Given the description of an element on the screen output the (x, y) to click on. 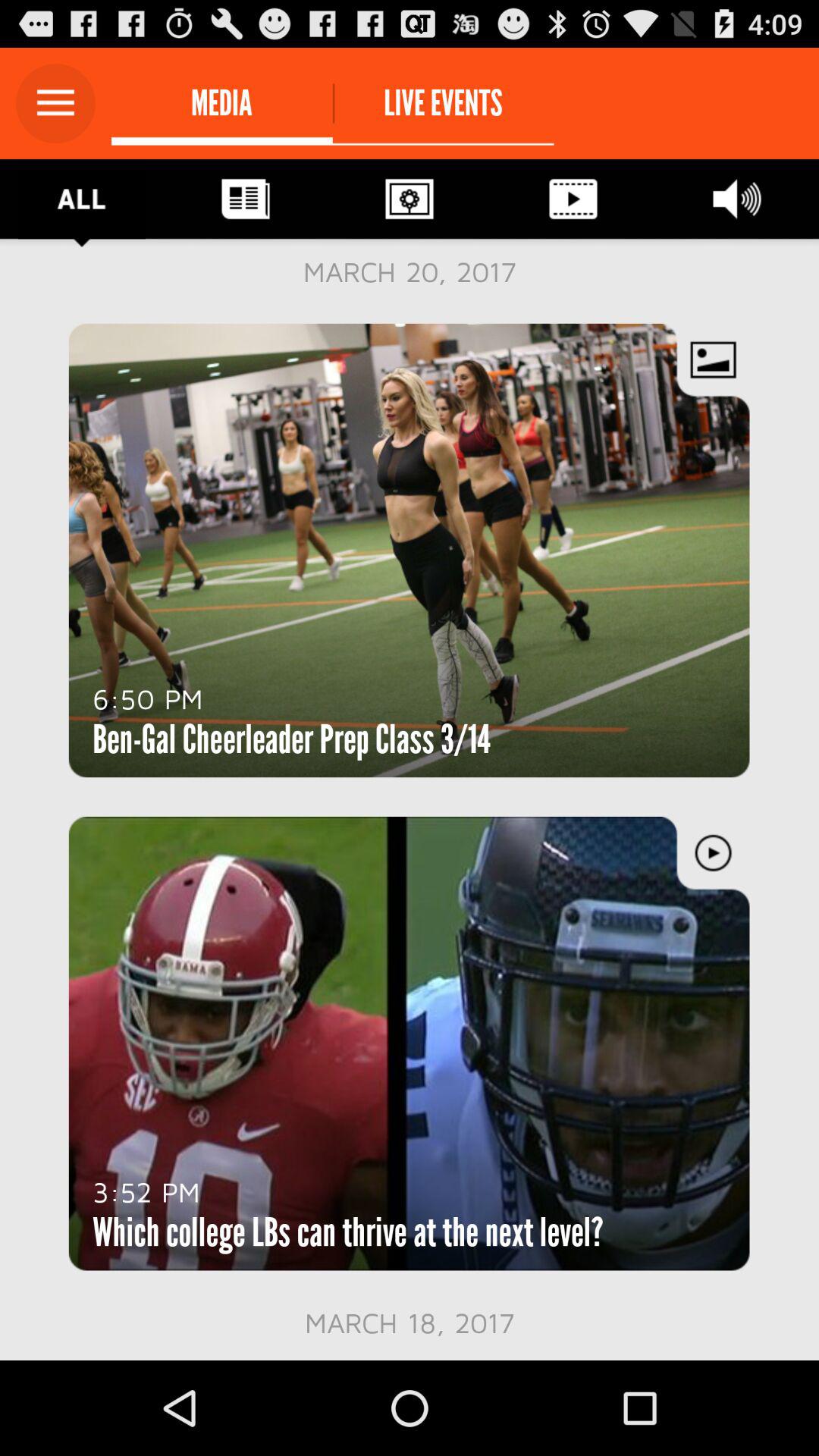
turn off the item above the which college lbs item (146, 1191)
